Given the description of an element on the screen output the (x, y) to click on. 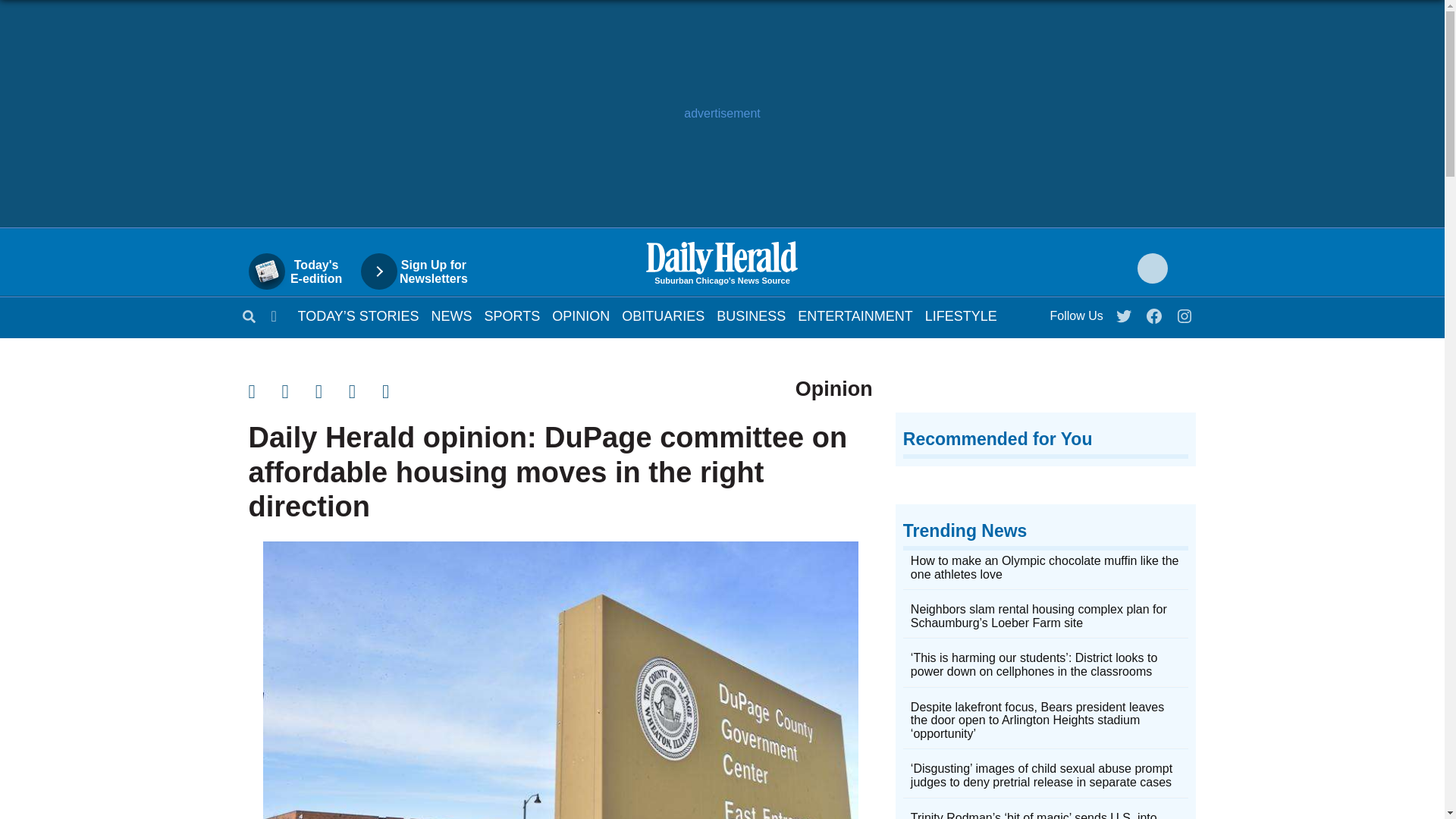
Instagram (1184, 312)
Opinion (580, 315)
Today's Stories (358, 315)
OPINION (580, 315)
BUSINESS (751, 315)
ENTERTAINMENT (854, 315)
Lifestyle (960, 315)
SPORTS (512, 315)
News (450, 315)
NEWS (450, 315)
Sign Up for Newsletters (421, 271)
Facebook (1155, 312)
Entertainment (854, 315)
Twitter (1124, 312)
Share via Email (332, 391)
